Given the description of an element on the screen output the (x, y) to click on. 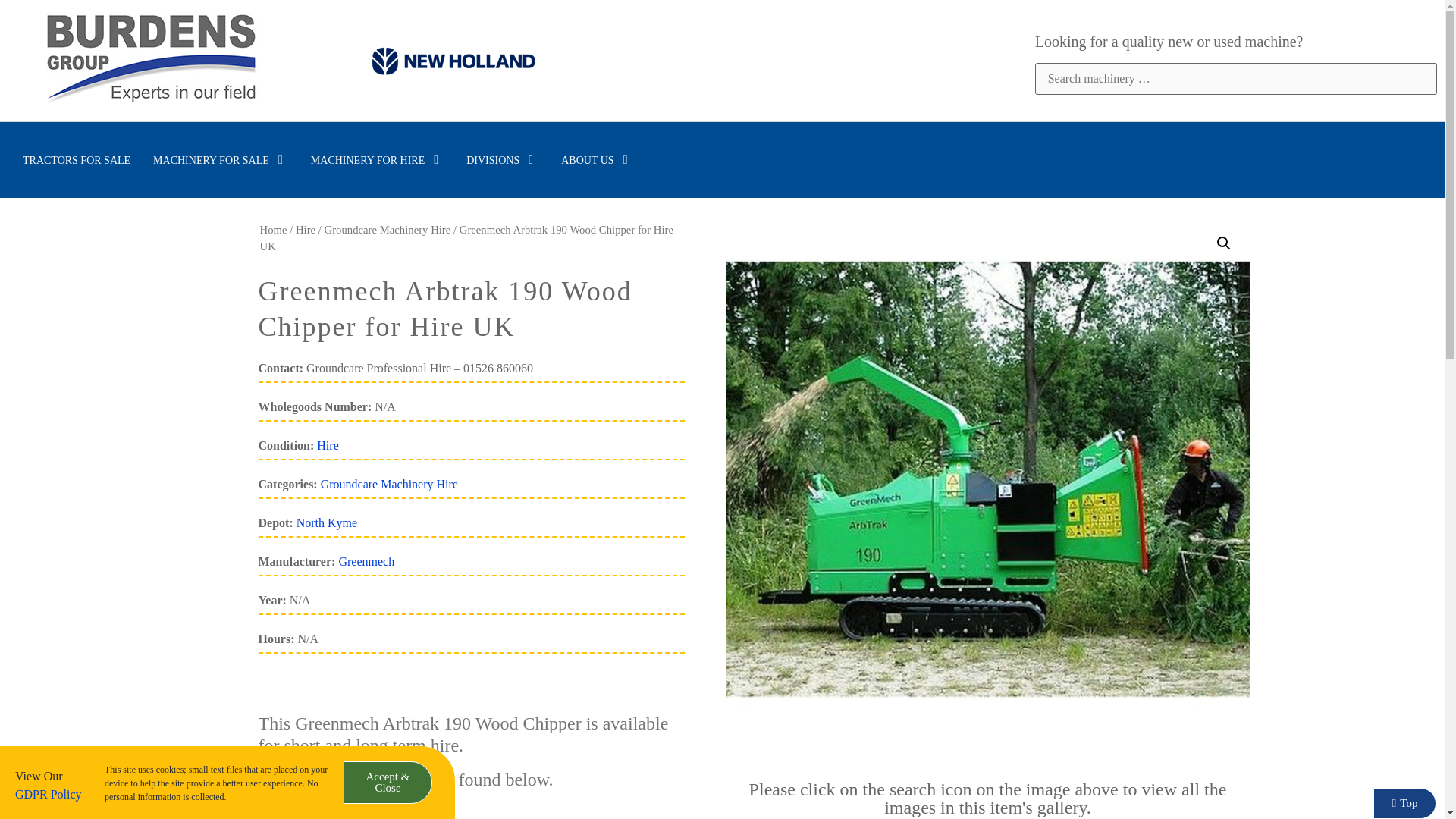
TRACTORS FOR SALE (77, 158)
burdens-group-logo (151, 60)
MACHINERY FOR SALE (220, 158)
DIVISIONS (501, 158)
MACHINERY FOR HIRE (377, 158)
